Given the description of an element on the screen output the (x, y) to click on. 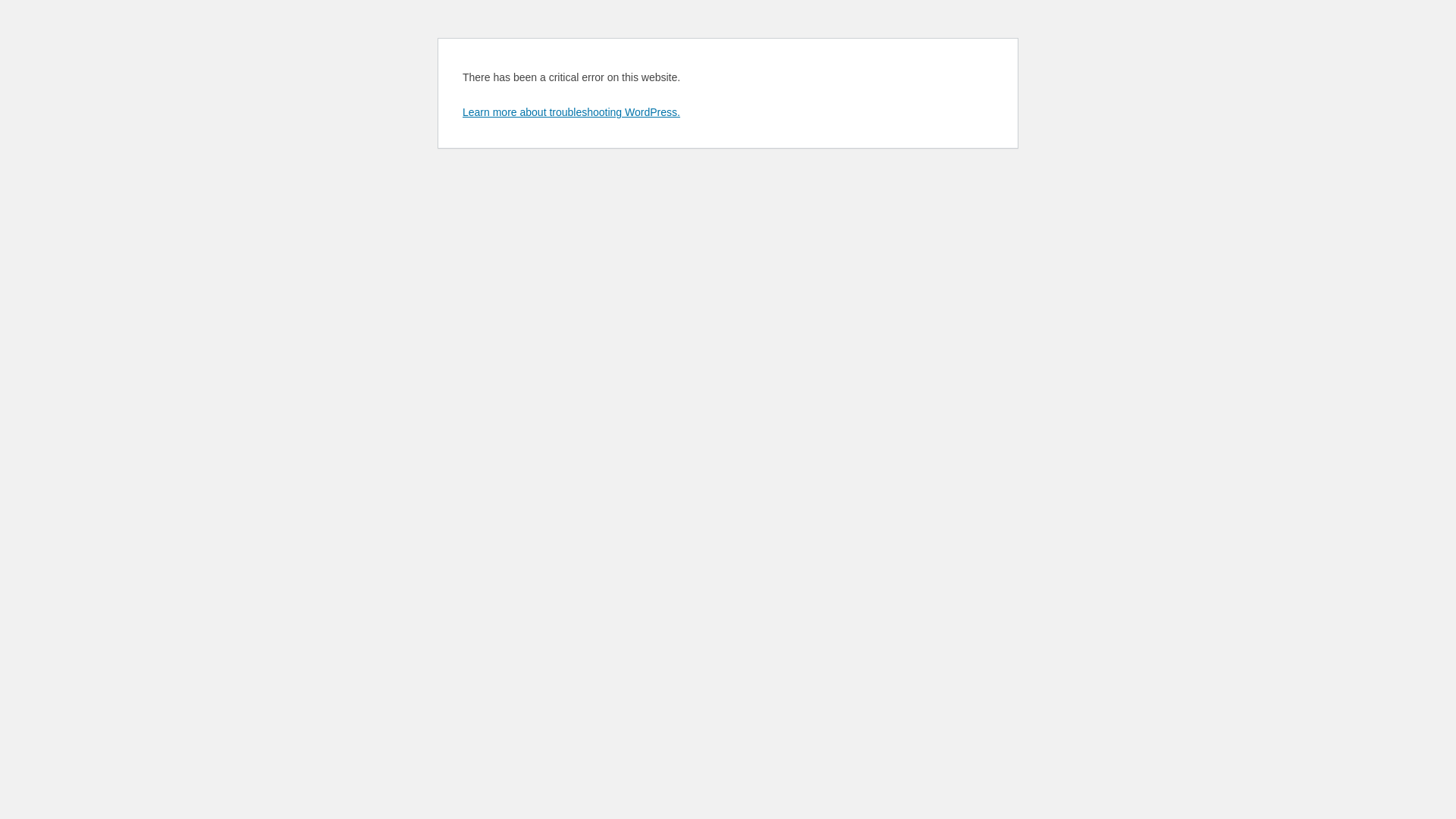
Learn more about troubleshooting WordPress. Element type: text (571, 112)
